Given the description of an element on the screen output the (x, y) to click on. 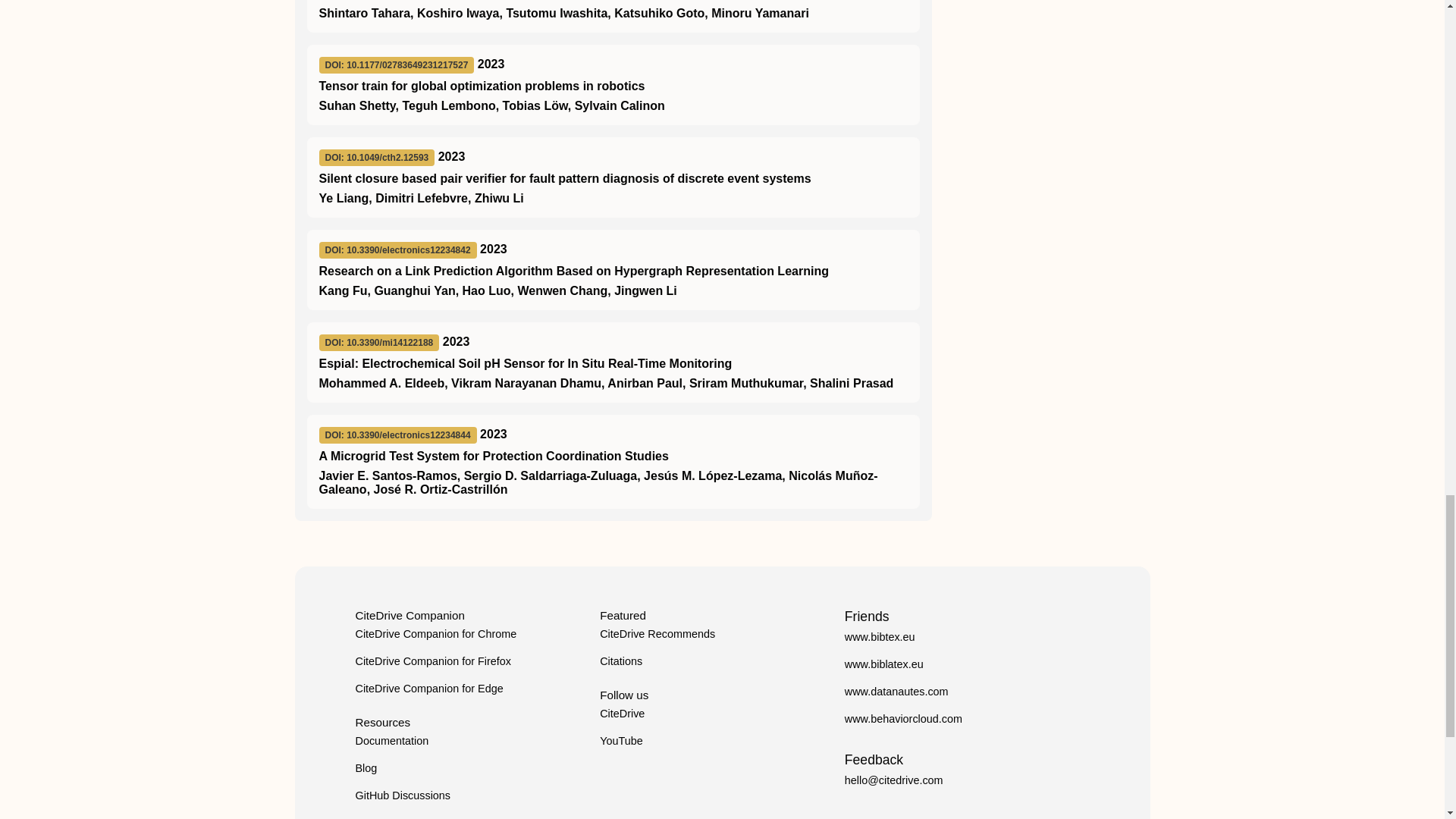
www.bibtex.eu (879, 636)
CiteDrive Companion for Edge (428, 688)
CiteDrive Companion for Firefox (433, 661)
Documentation (391, 740)
CiteDrive Recommends (656, 633)
Citations (620, 661)
www.biblatex.eu (883, 664)
Blog (366, 767)
YouTube (621, 740)
CiteDrive (622, 713)
GitHub Discussions (402, 795)
CiteDrive Companion for Chrome (435, 633)
